Given the description of an element on the screen output the (x, y) to click on. 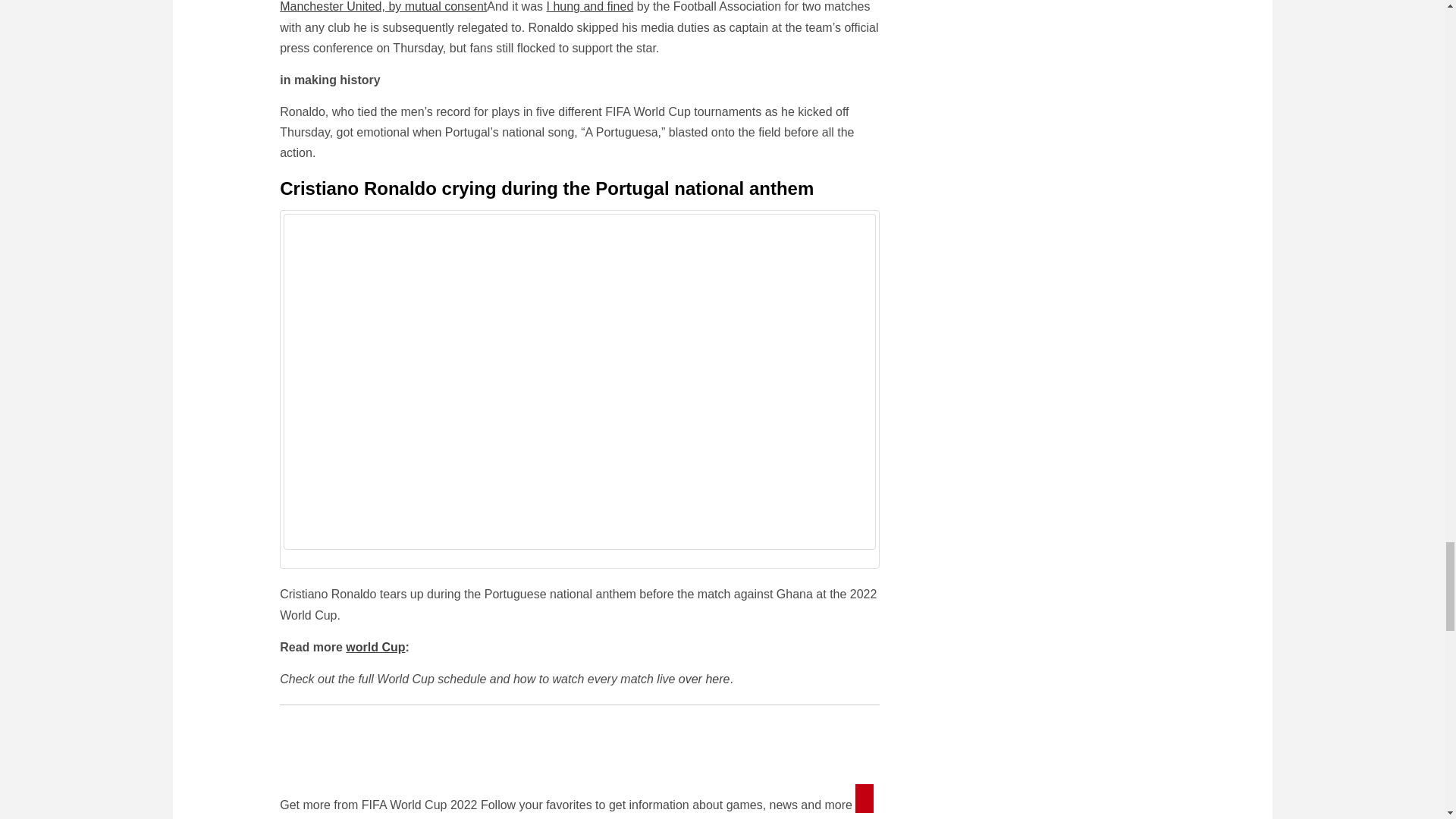
I hung and fined (590, 6)
He left his club, Manchester United, by mutual consent (562, 6)
